Given the description of an element on the screen output the (x, y) to click on. 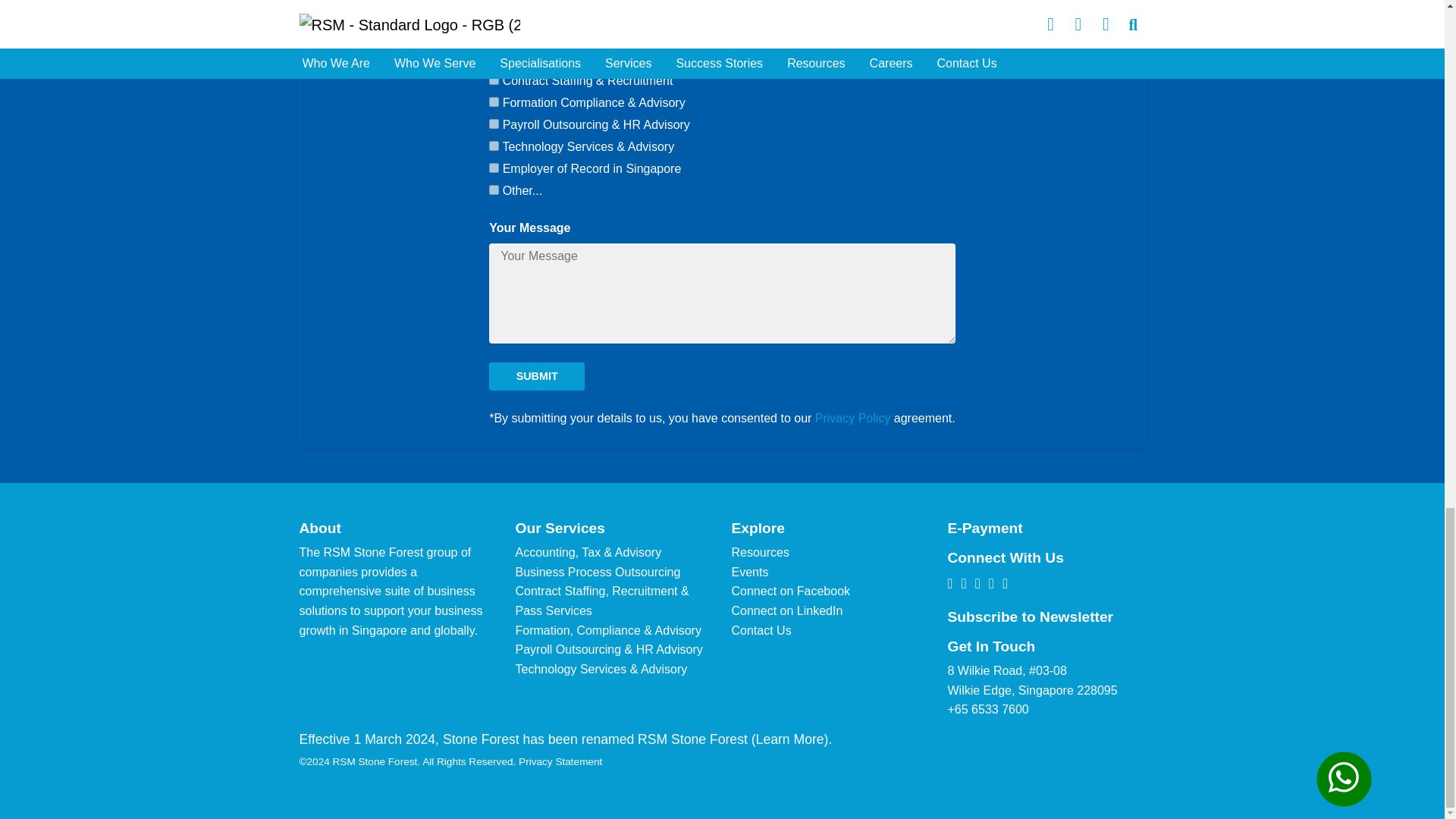
Employer of Record in Singapore (494, 167)
on (494, 189)
Business Process Outsourcing (494, 58)
